Given the description of an element on the screen output the (x, y) to click on. 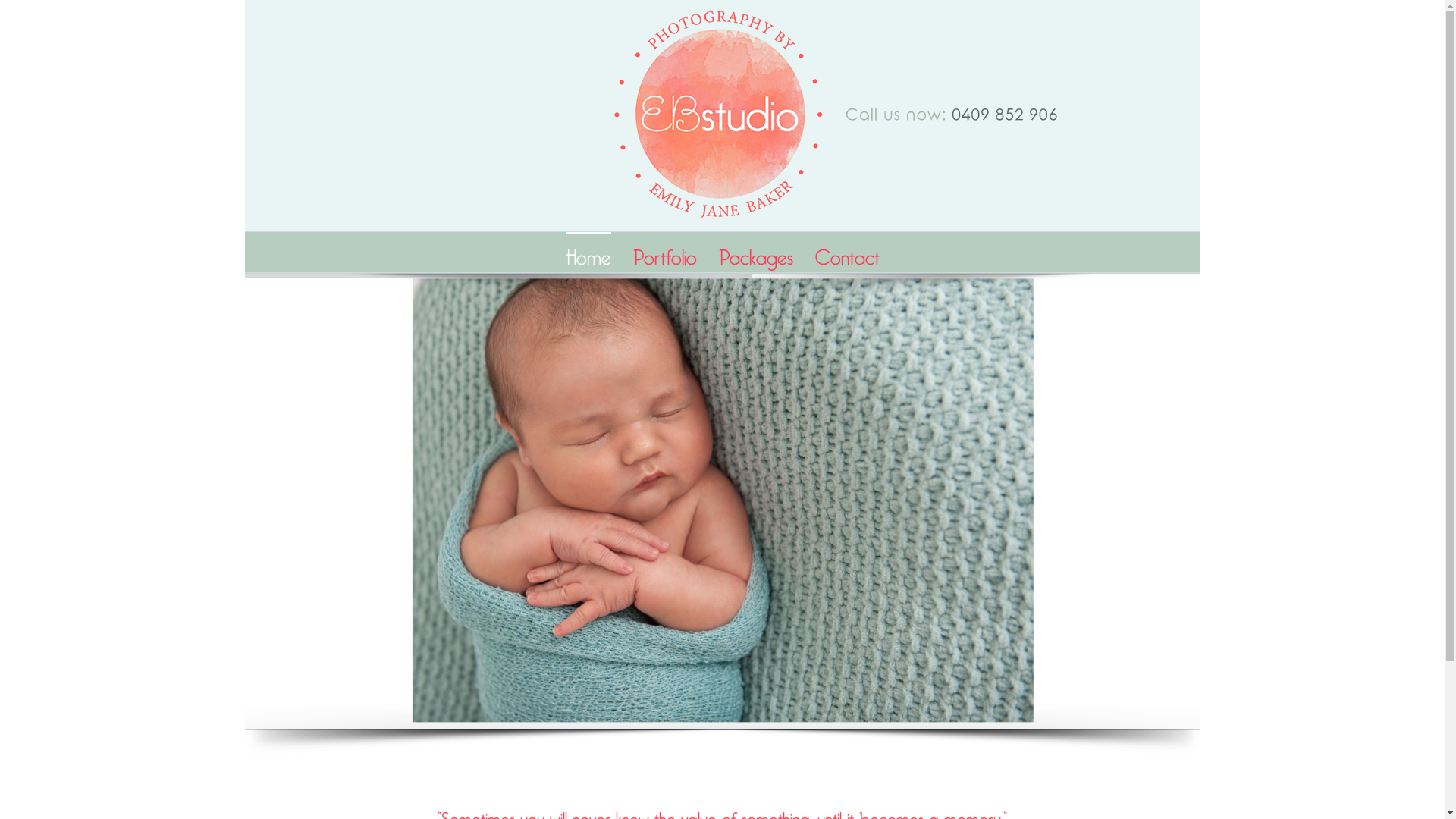
Packages Element type: text (755, 252)
Home Element type: text (588, 252)
Portfolio Element type: text (664, 252)
Contact Element type: text (846, 252)
